Given the description of an element on the screen output the (x, y) to click on. 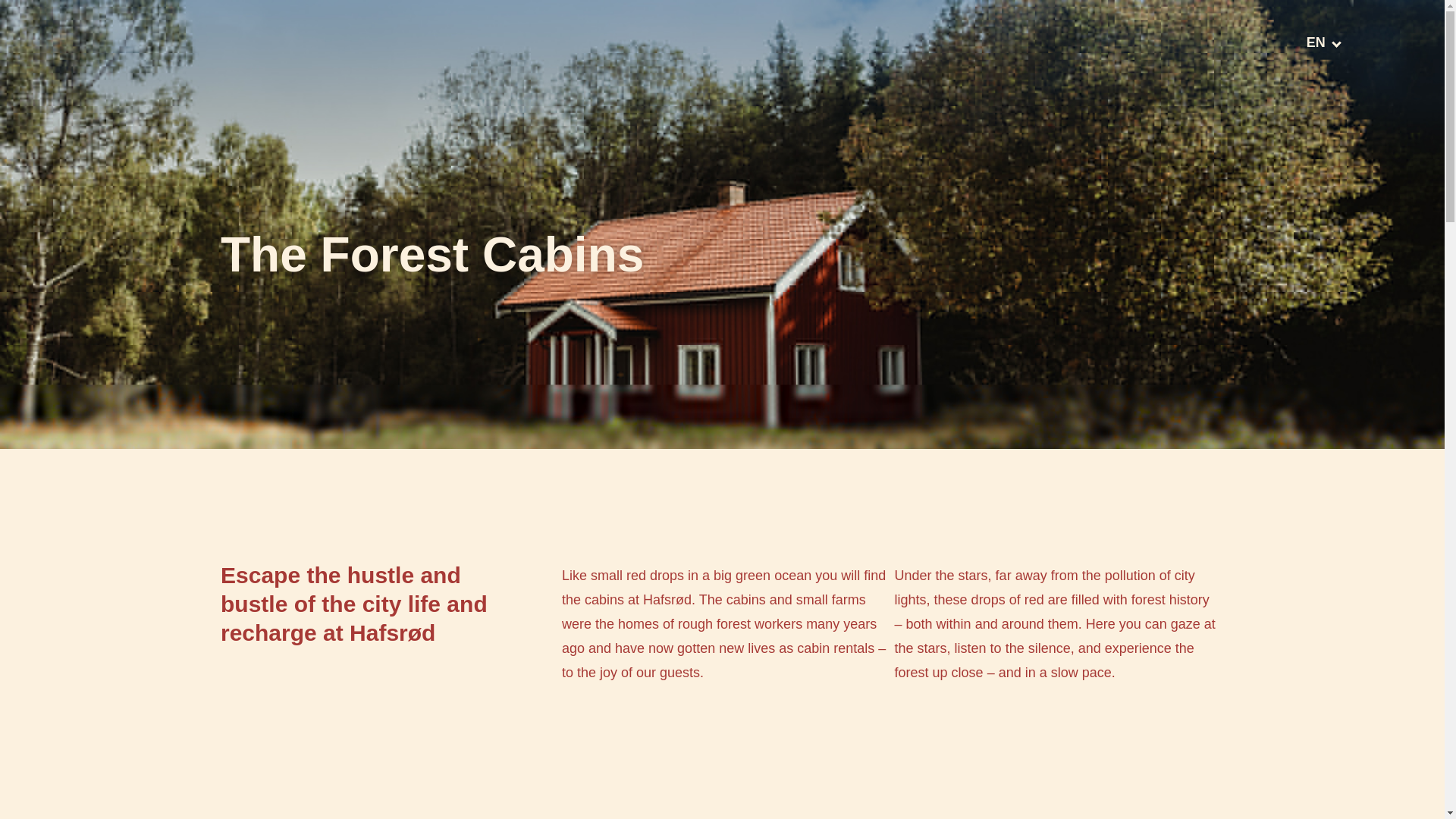
Cabins (509, 34)
Location (779, 34)
Stories (865, 34)
Experience (606, 34)
Contact (948, 34)
BOOK A CABIN (1209, 42)
About (697, 34)
